Given the description of an element on the screen output the (x, y) to click on. 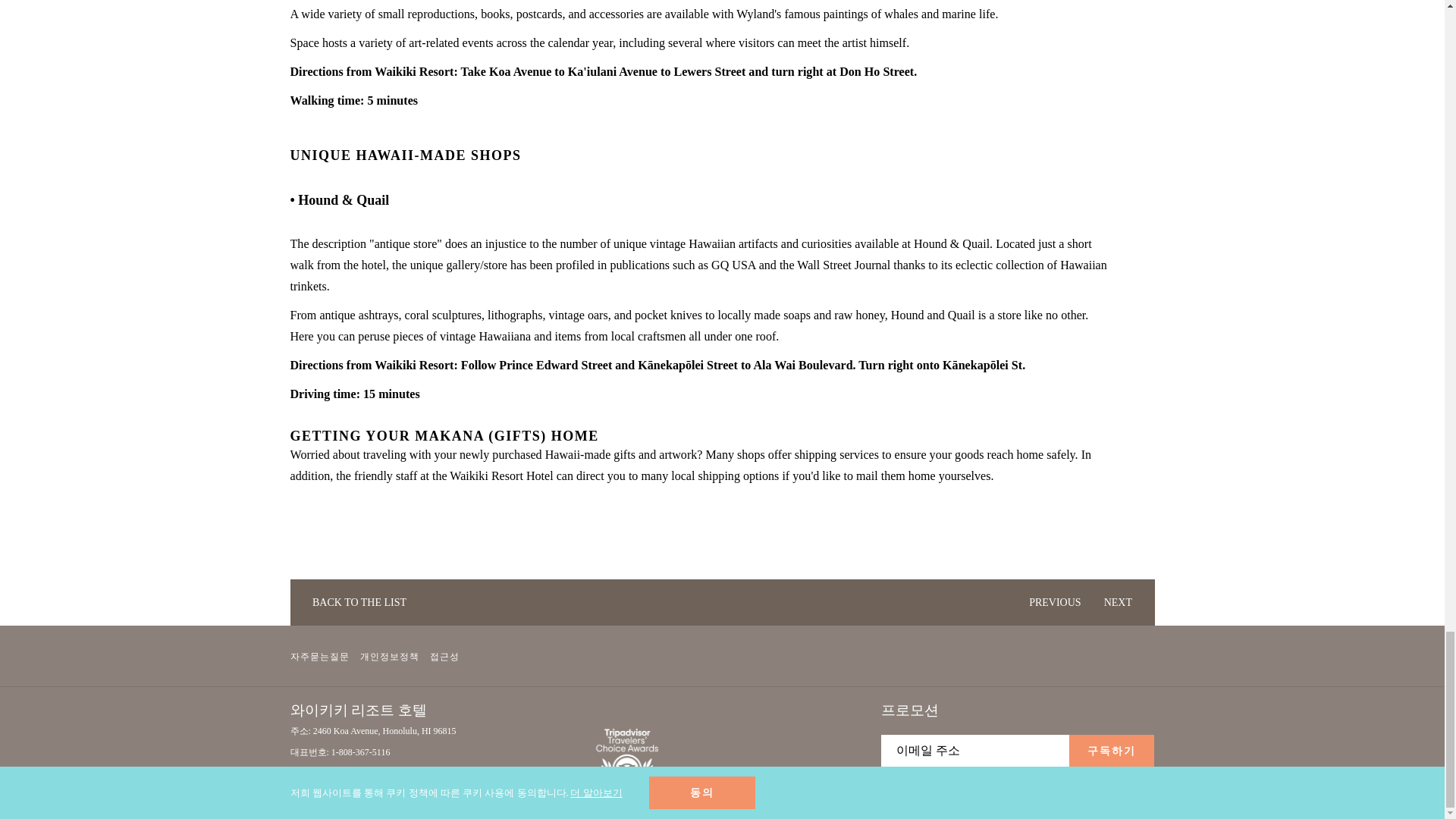
PREVIOUS (1048, 602)
NEXT (1124, 602)
BACK TO THE LIST (352, 602)
